Given the description of an element on the screen output the (x, y) to click on. 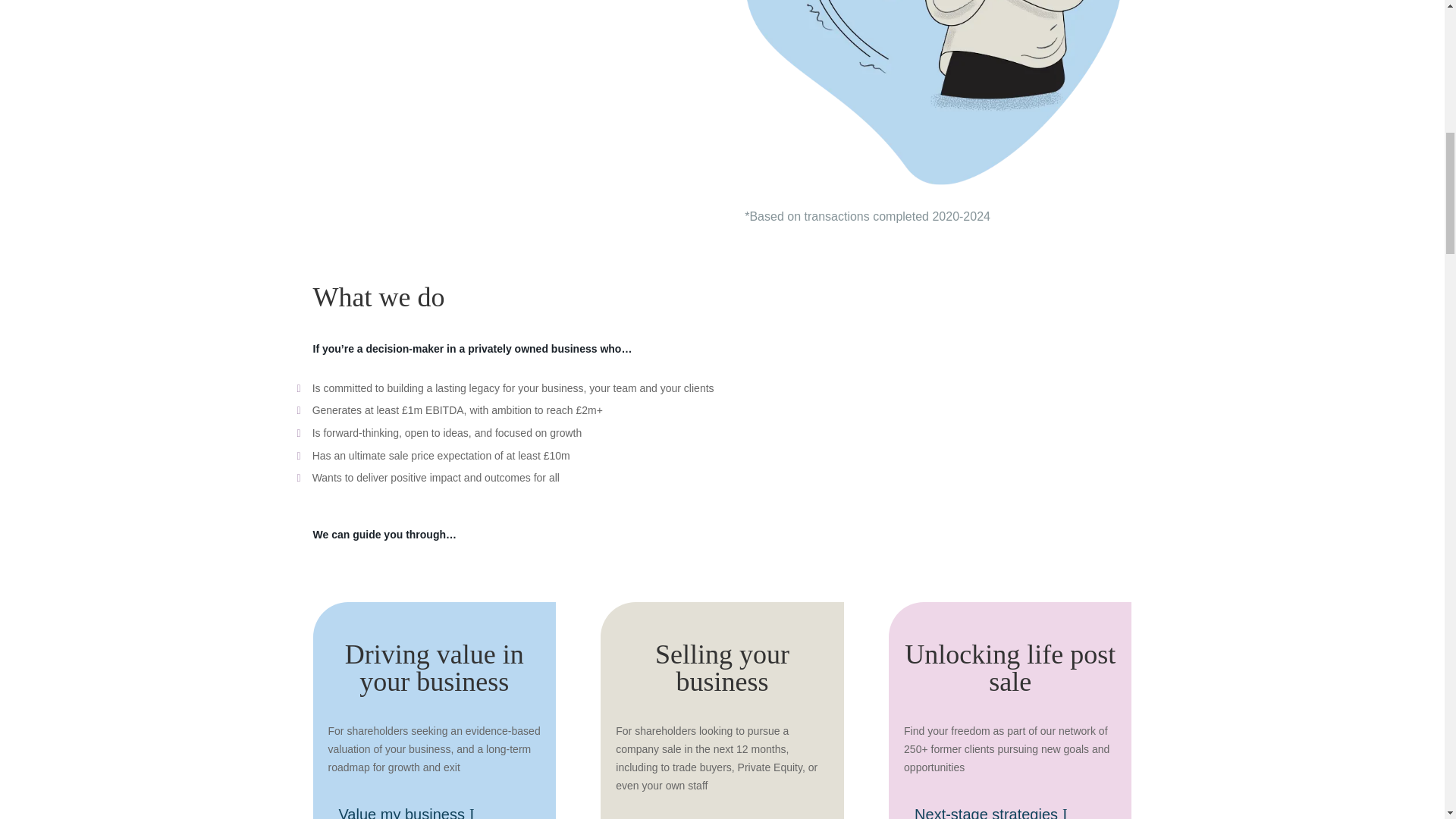
Selling your business is a challenge (937, 92)
Sell my business (692, 816)
Value my business (411, 807)
Next-stage strategies (995, 807)
